Given the description of an element on the screen output the (x, y) to click on. 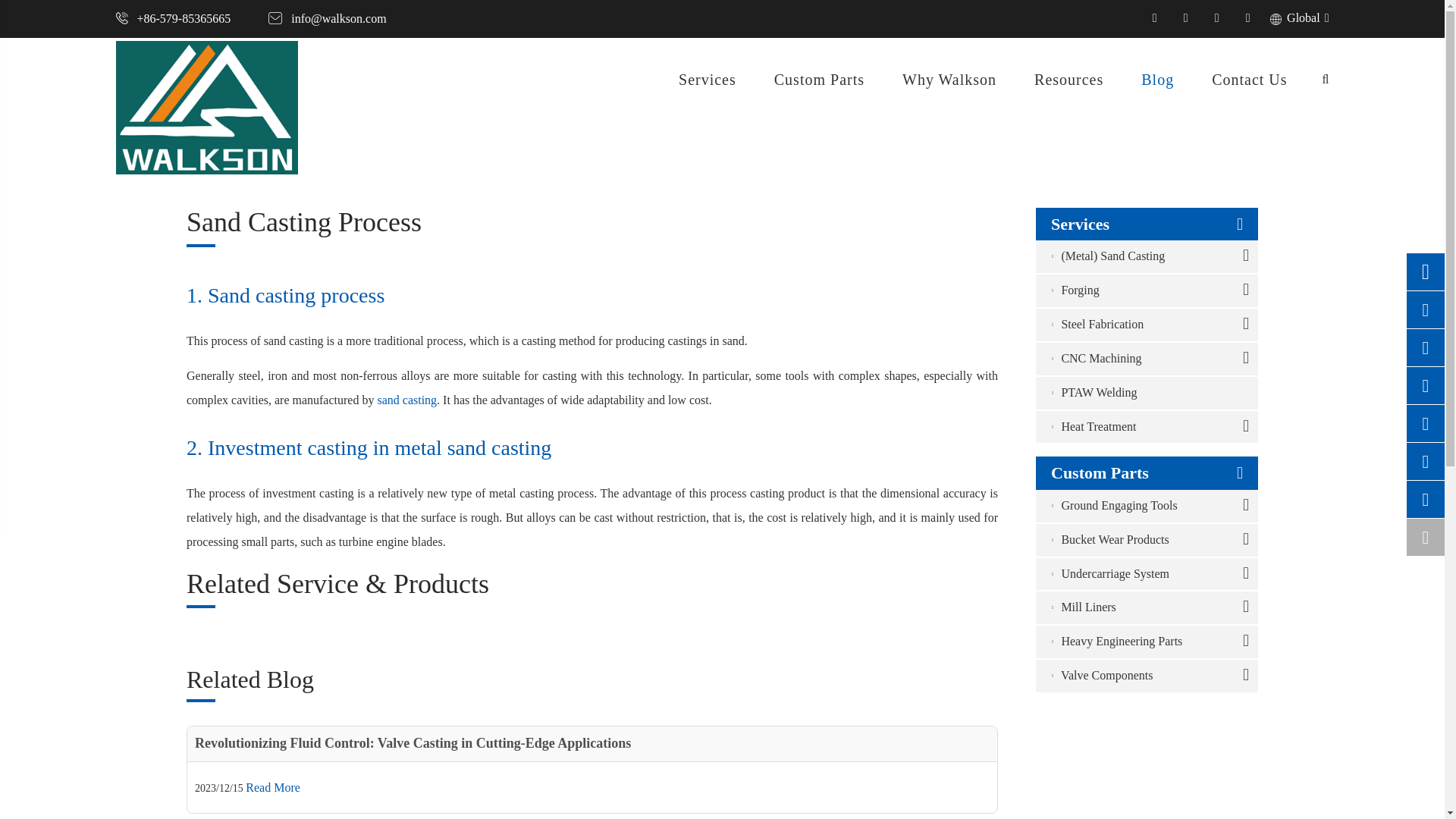
Contact Us (121, 18)
Global (1275, 19)
Services (707, 77)
Contact Us (274, 18)
